Given the description of an element on the screen output the (x, y) to click on. 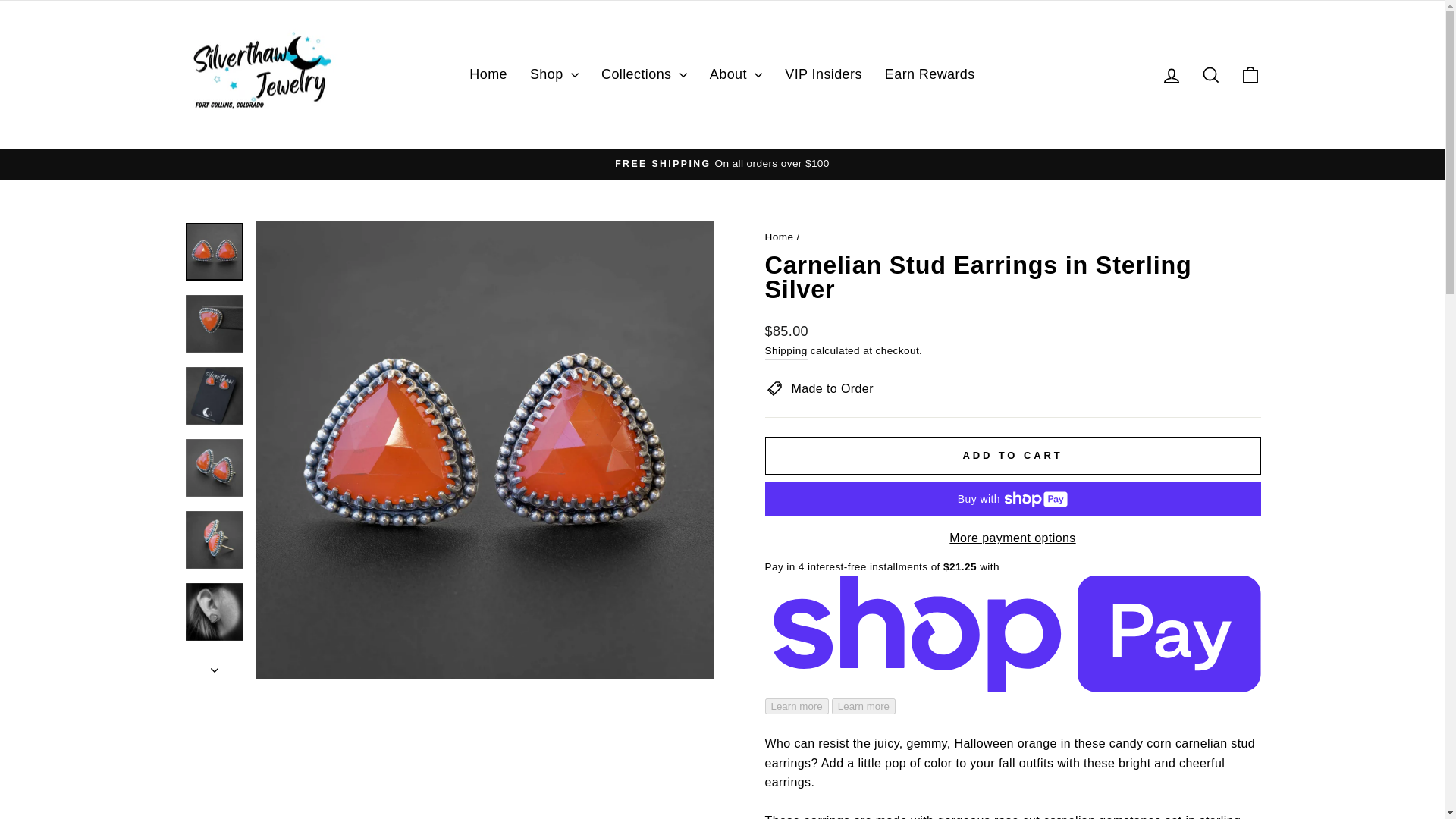
Back to the frontpage (778, 236)
account (1170, 75)
icon-search (1210, 74)
Home (488, 74)
icon-bag-minimal (1249, 74)
